Given the description of an element on the screen output the (x, y) to click on. 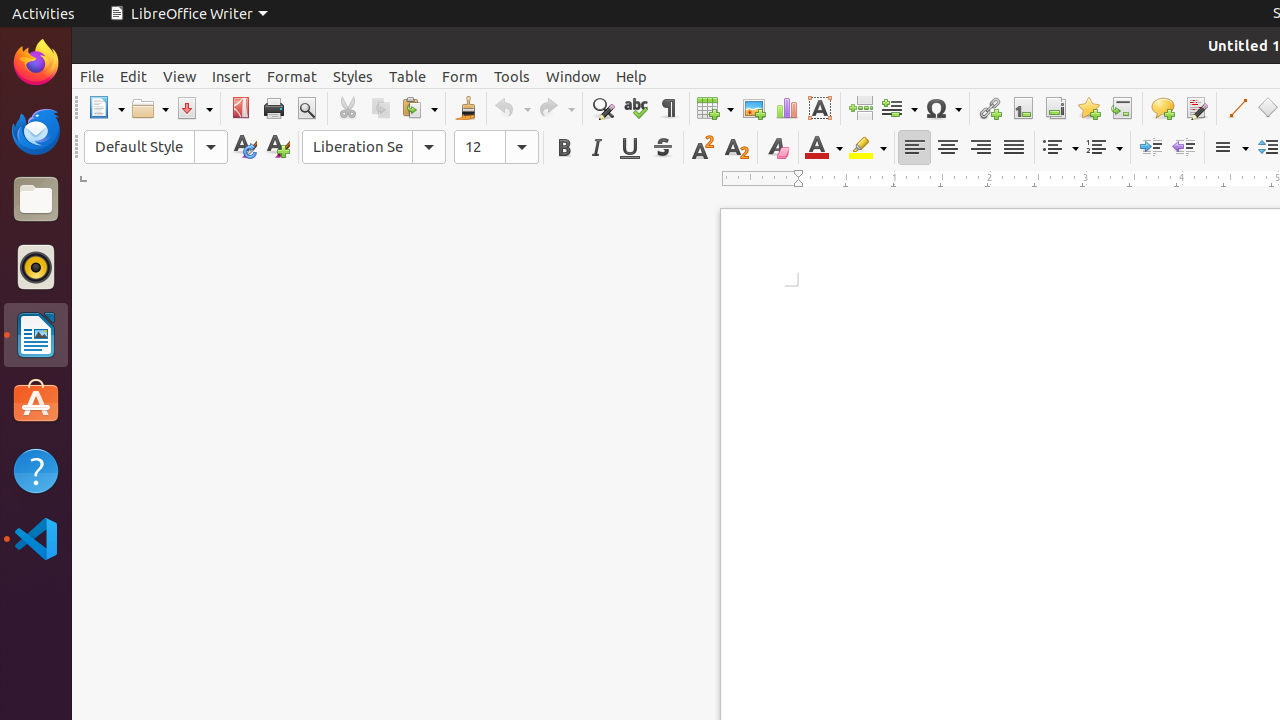
Justified Element type: toggle-button (1013, 147)
Highlight Color Element type: push-button (868, 147)
Print Element type: push-button (273, 108)
Line Element type: push-button (1236, 108)
Update Element type: push-button (244, 147)
